Given the description of an element on the screen output the (x, y) to click on. 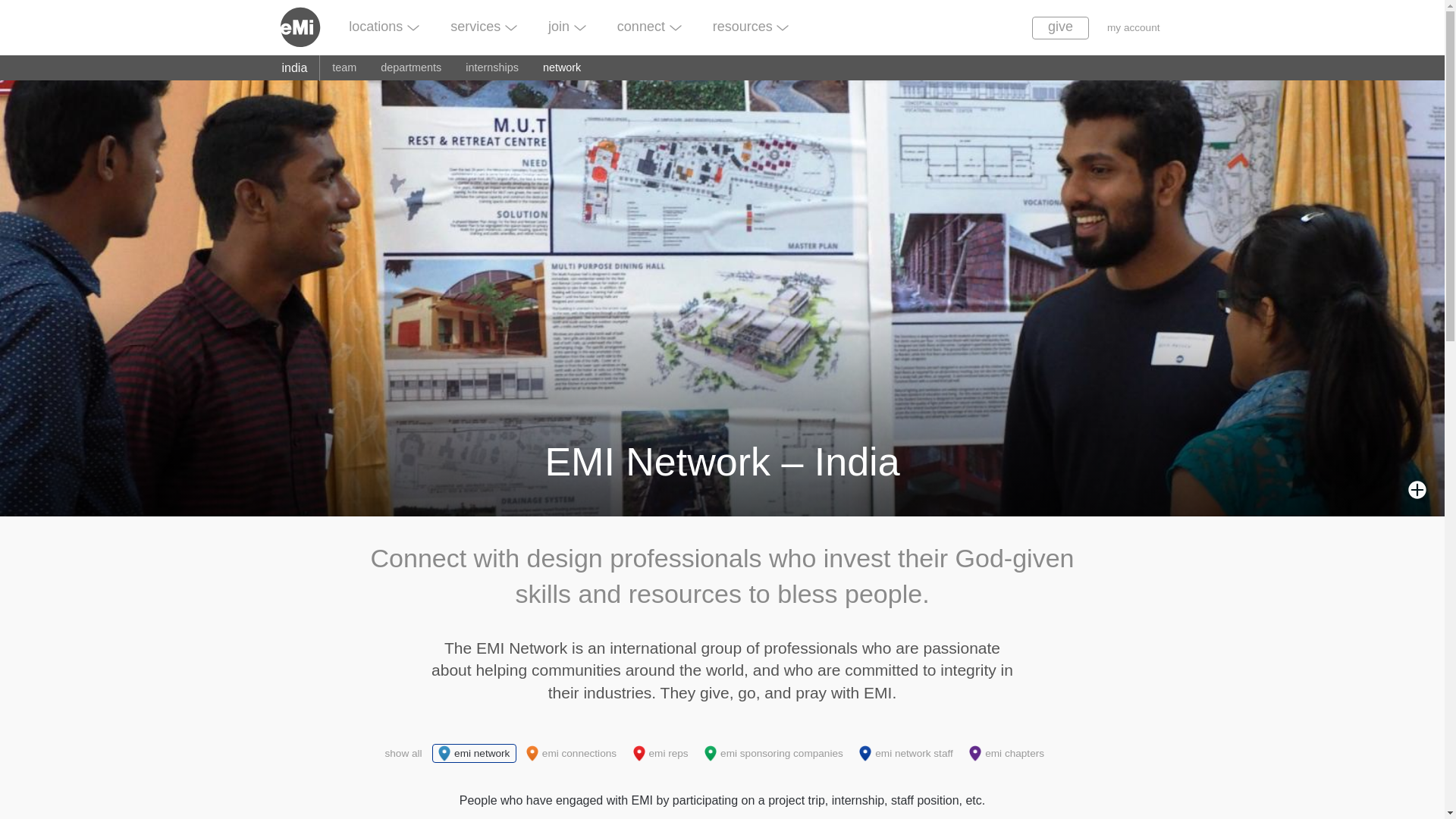
locations (383, 26)
services (483, 26)
resources (750, 26)
give (1060, 27)
connect (648, 26)
Home (306, 25)
my account (1133, 27)
join (566, 26)
